Given the description of an element on the screen output the (x, y) to click on. 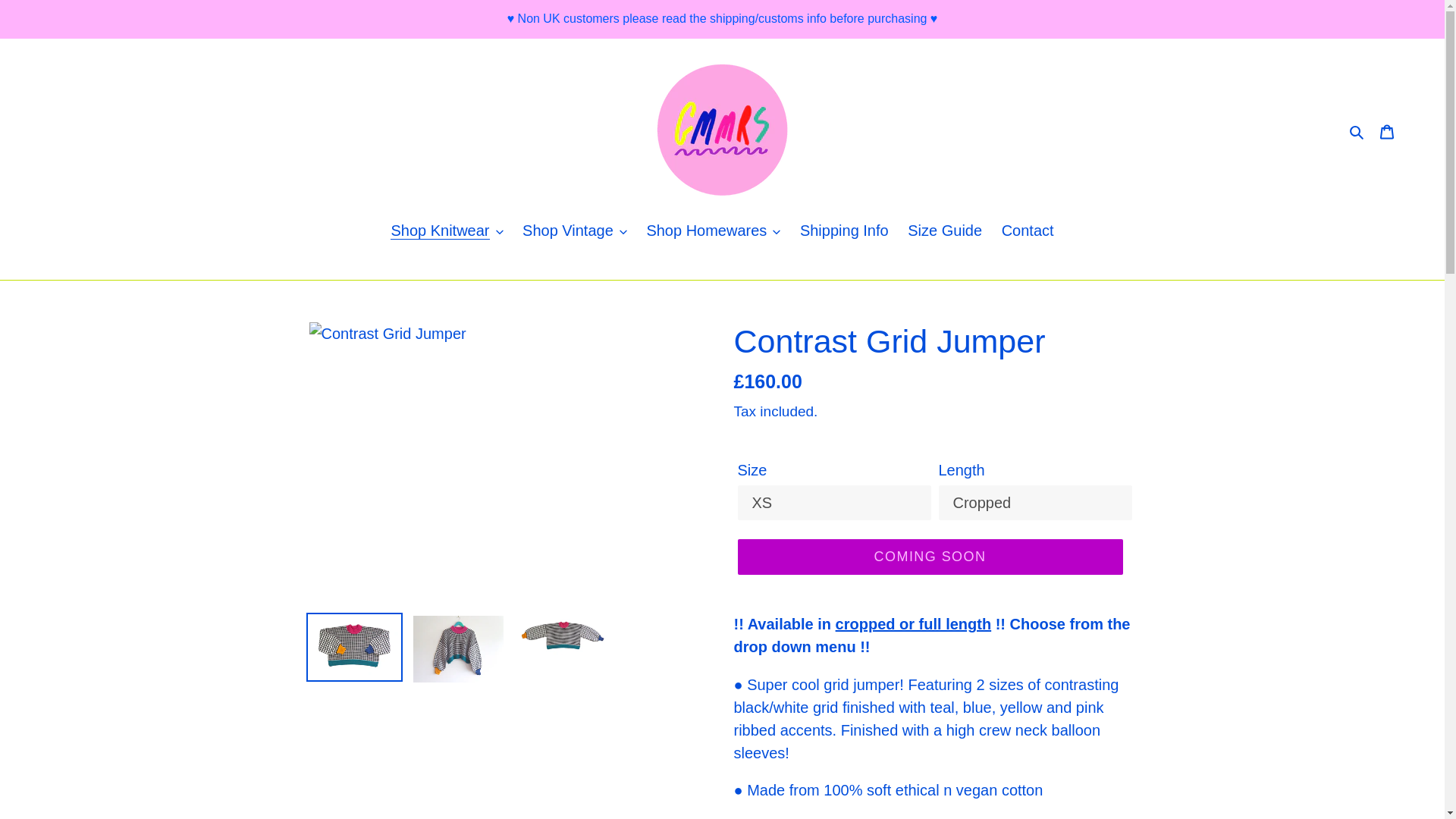
Search (1357, 129)
Shop Vintage (574, 231)
Shop Homewares (713, 231)
Shop Knitwear (446, 231)
